Given the description of an element on the screen output the (x, y) to click on. 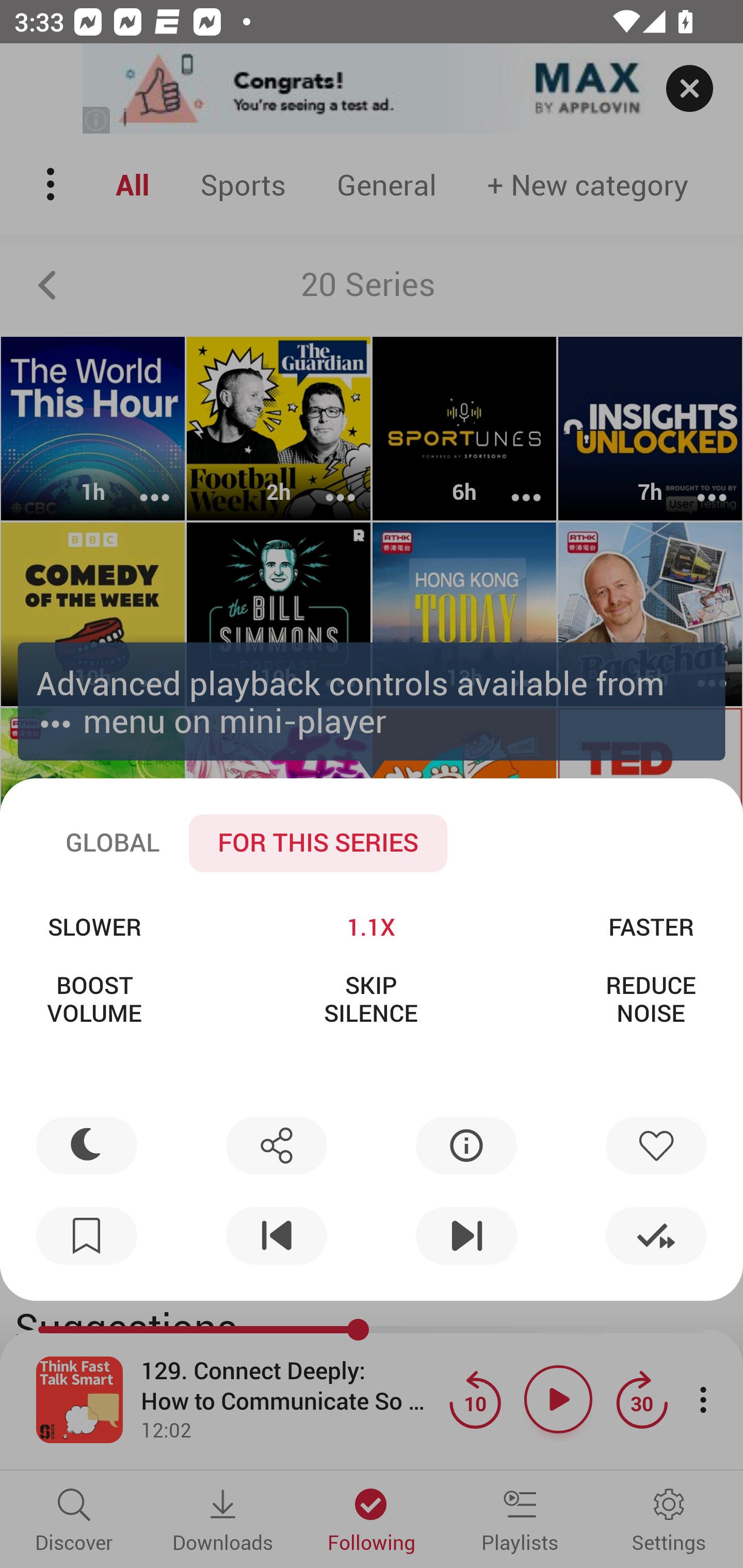
GLOBAL (112, 842)
FOR THIS SERIES (317, 842)
SLOWER (94, 926)
1.1X (370, 926)
FASTER (650, 926)
BOOST
VOLUME (94, 998)
SKIP
SILENCE (370, 998)
REDUCE
NOISE (650, 998)
Sleep timer (86, 1145)
Share (275, 1145)
Info (466, 1145)
Like (655, 1145)
New bookmark … (86, 1236)
Previous (275, 1236)
Next (466, 1236)
Mark played and next (655, 1236)
